Given the description of an element on the screen output the (x, y) to click on. 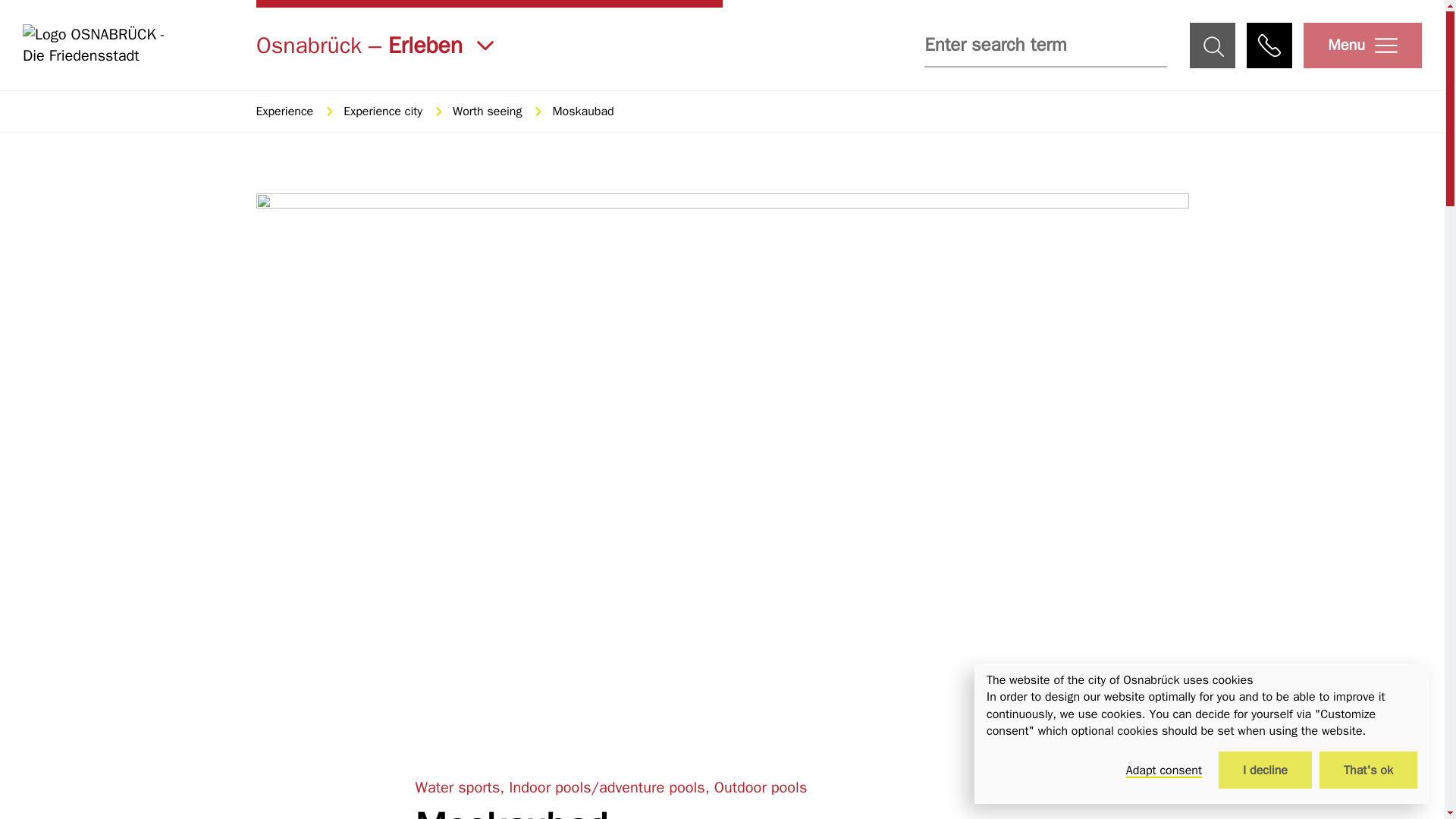
Erleben homepage (106, 45)
Contact (1269, 44)
Menu (1362, 44)
Search (1211, 44)
Open portal navigator, currently "Erleben" (489, 45)
Search (1211, 44)
Contact (1269, 44)
Menu (1362, 44)
